Given the description of an element on the screen output the (x, y) to click on. 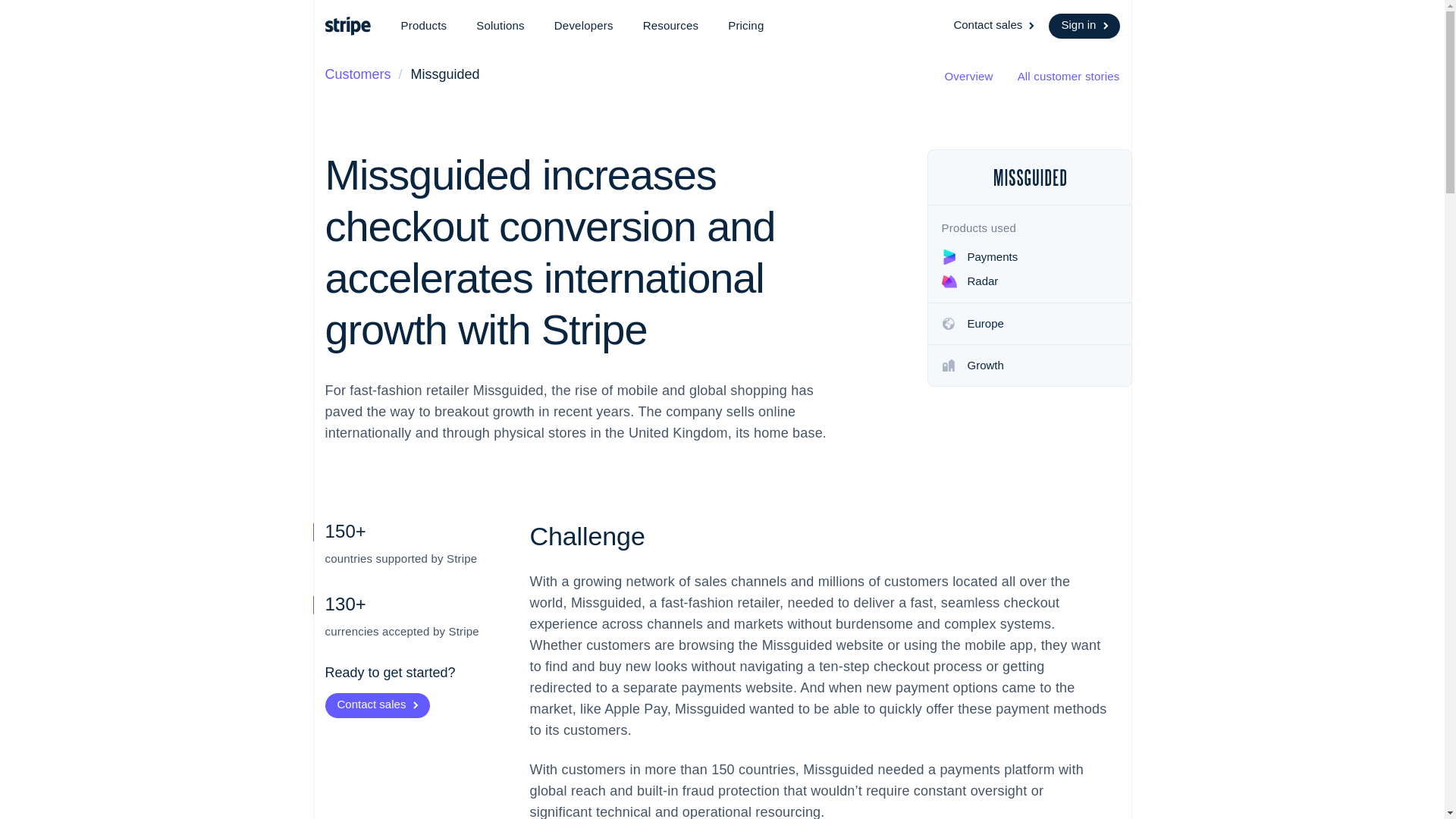
Products (423, 25)
Pricing (745, 25)
Developers (583, 25)
Solutions (500, 25)
Sign in  (1083, 25)
Contact sales  (994, 25)
Resources (670, 25)
